Given the description of an element on the screen output the (x, y) to click on. 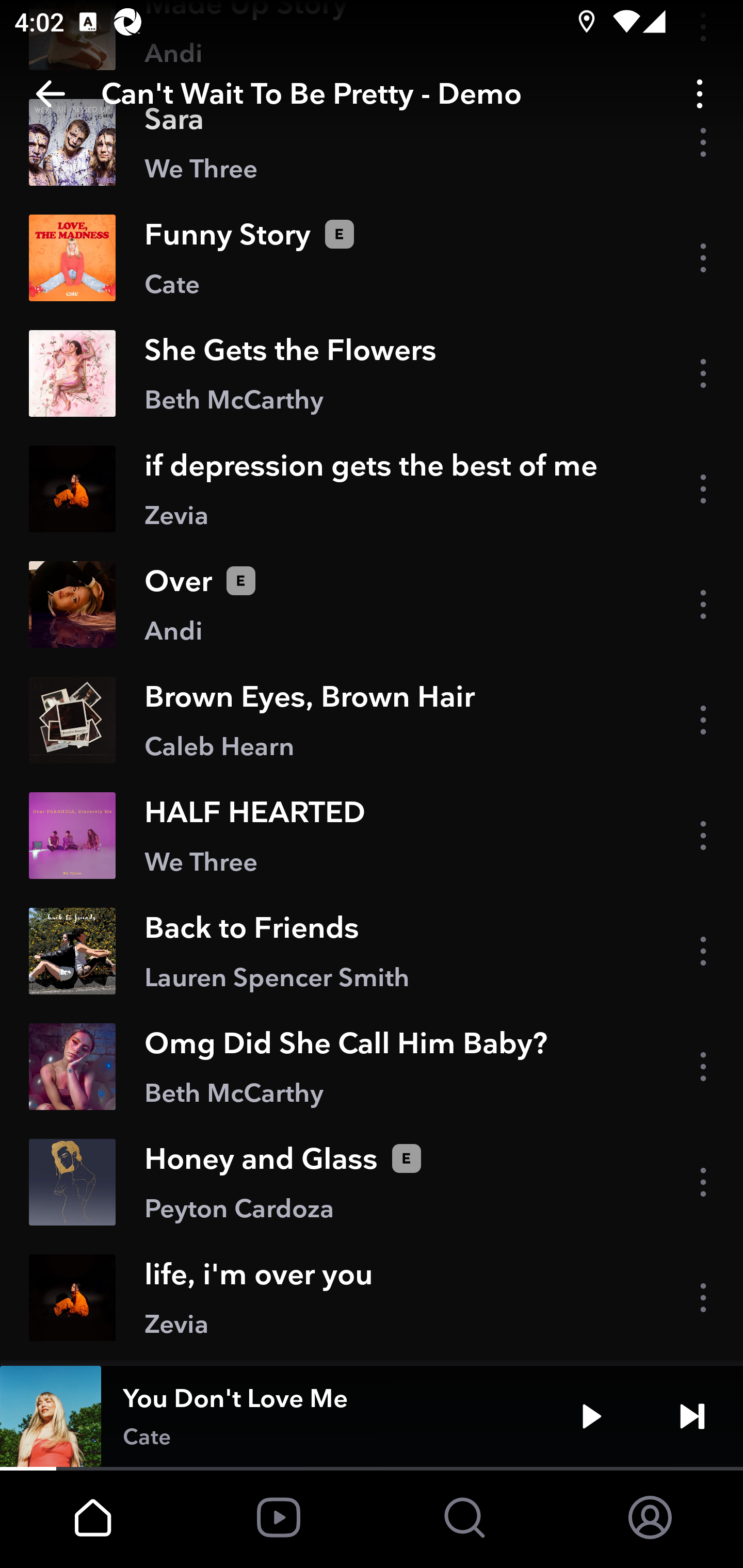
Options (699, 93)
Sara We Three (371, 142)
Funny Story Cate (371, 257)
She Gets the Flowers Beth McCarthy (371, 373)
if depression gets the best of me Zevia (371, 489)
Over Andi (371, 604)
Brown Eyes, Brown Hair Caleb Hearn (371, 719)
HALF HEARTED We Three (371, 835)
Back to Friends Lauren Spencer Smith (371, 950)
Omg Did She Call Him Baby? Beth McCarthy (371, 1066)
Honey and Glass Peyton Cardoza (371, 1182)
life, i'm over you Zevia (371, 1297)
You Don't Love Me Cate Play (371, 1416)
Play (590, 1416)
